Given the description of an element on the screen output the (x, y) to click on. 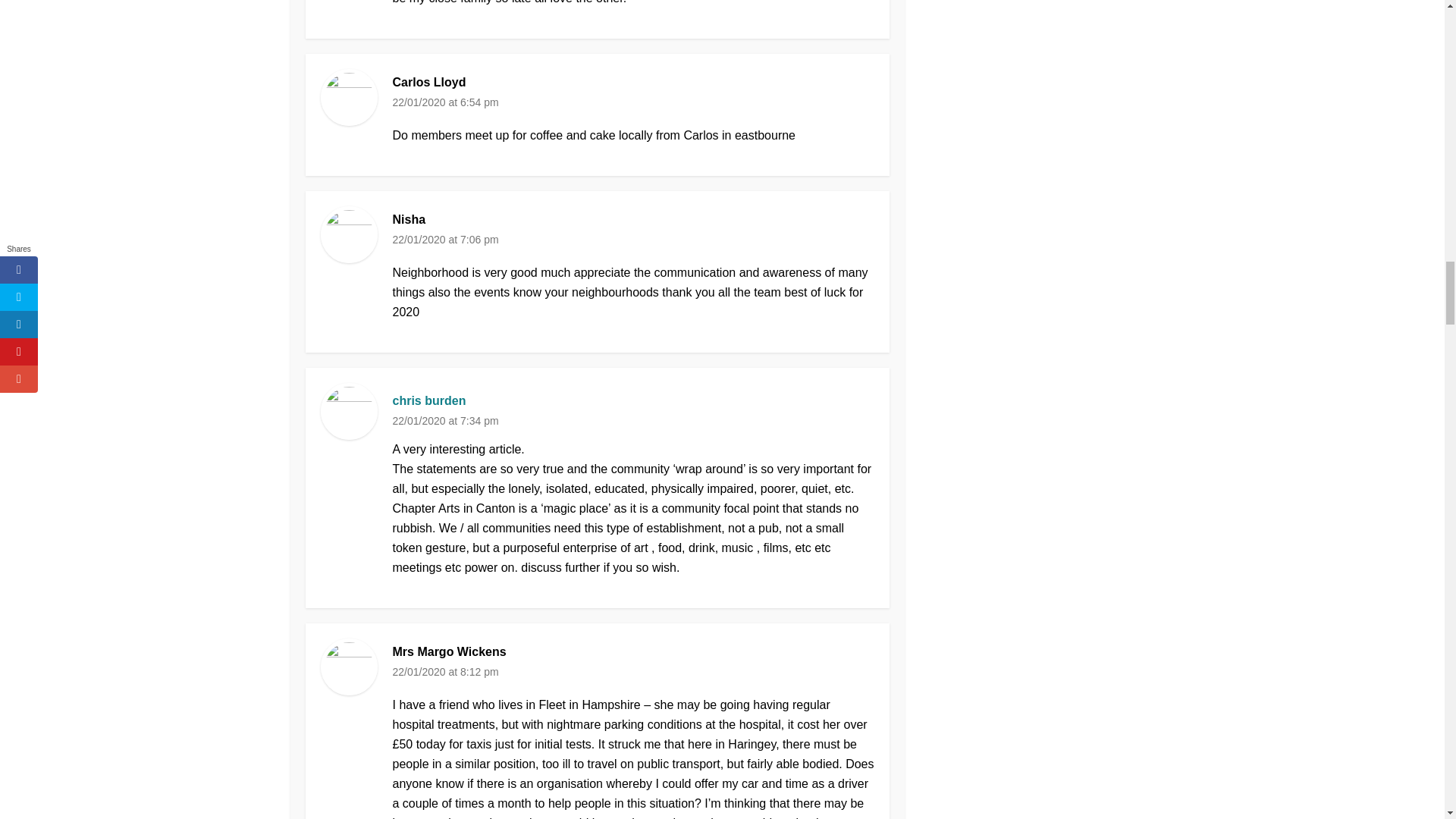
chris burden (429, 401)
